Given the description of an element on the screen output the (x, y) to click on. 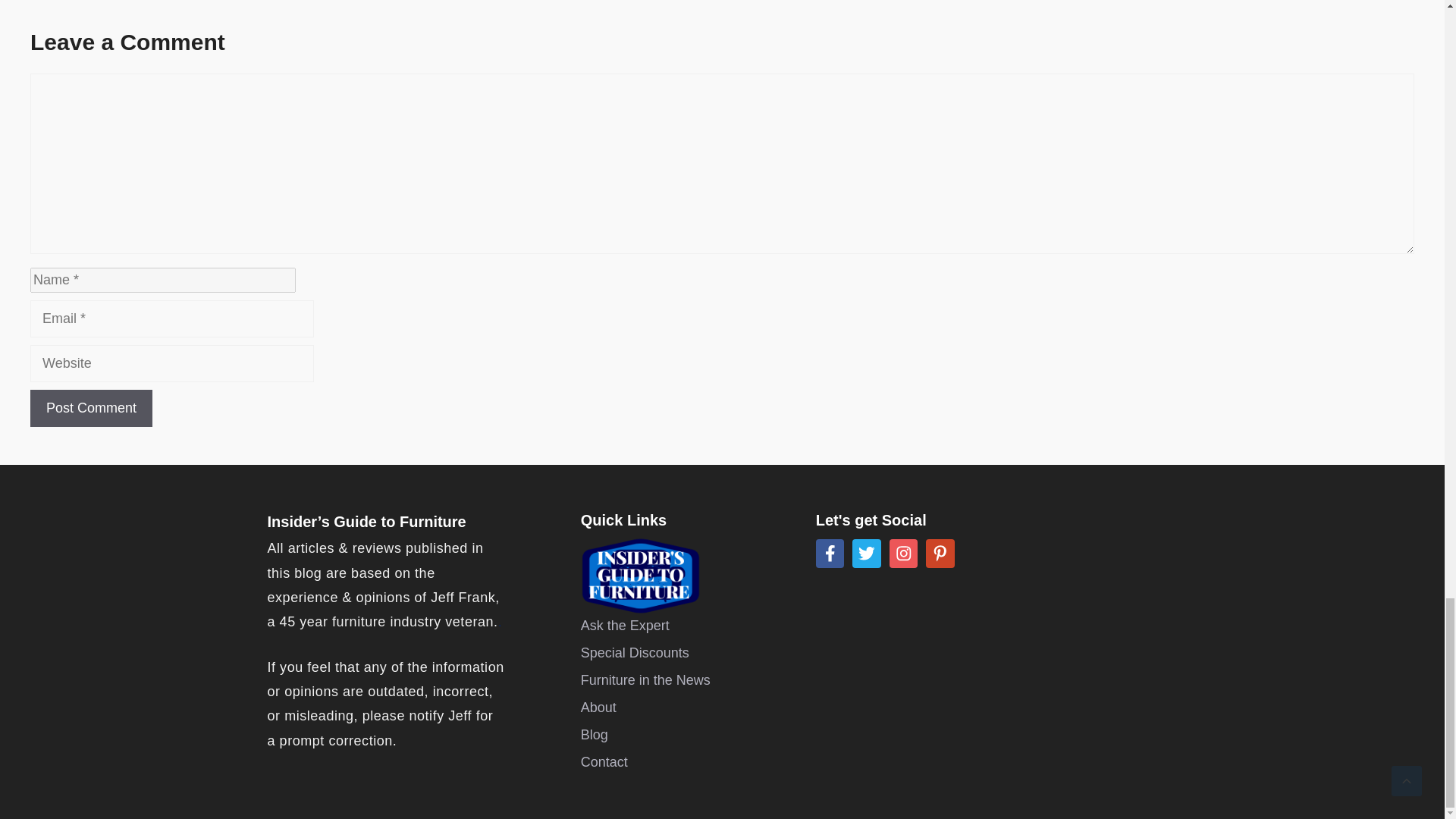
Contact (603, 762)
. (499, 621)
About (597, 707)
Blog (594, 734)
Post Comment (91, 407)
Special Discounts (634, 652)
Ask the Expert (624, 625)
Furniture in the News (645, 680)
Post Comment (91, 407)
